Given the description of an element on the screen output the (x, y) to click on. 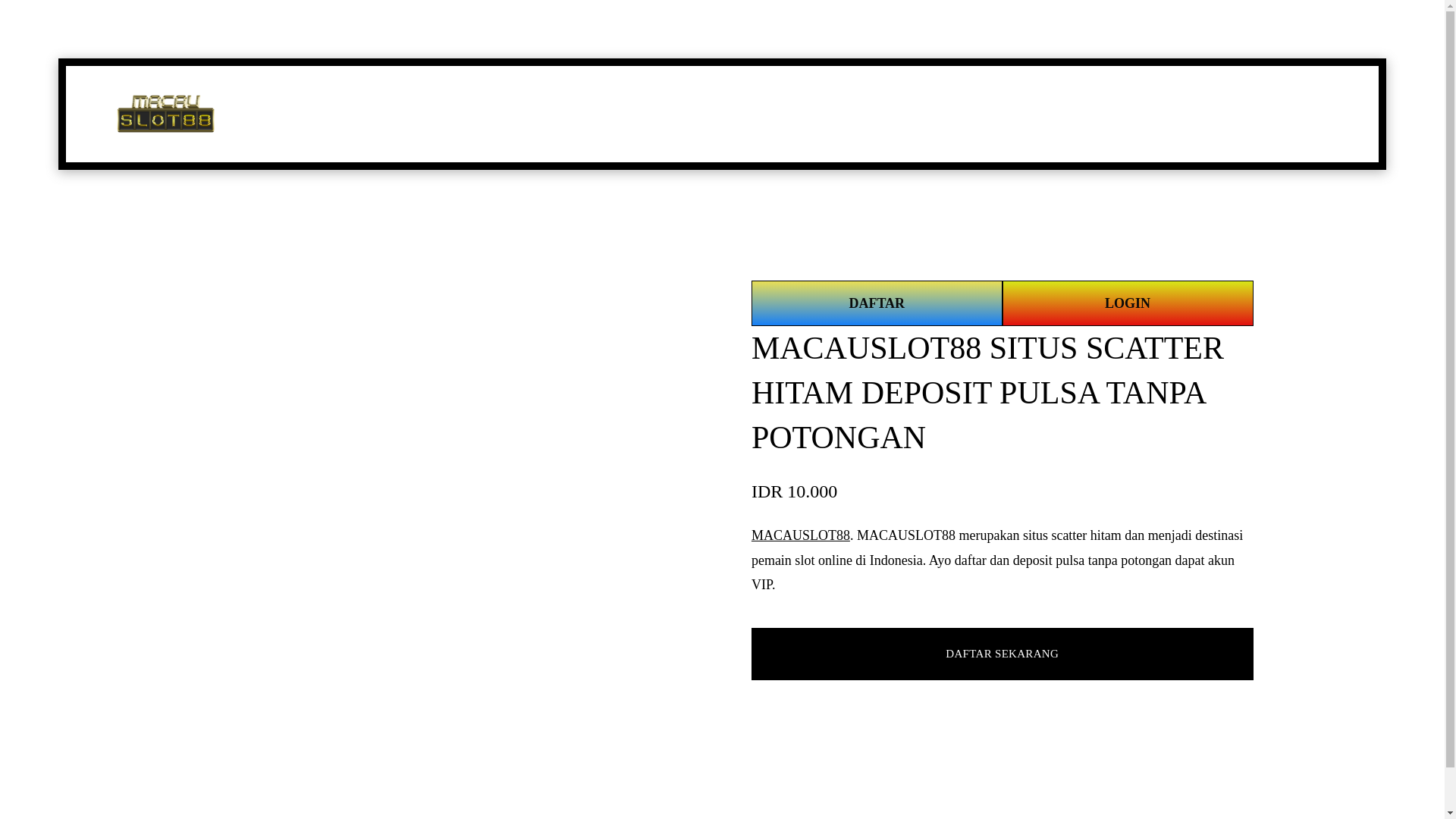
DAFTAR SEKARANG (1001, 653)
LOGIN (1128, 302)
MACAUSLOT88 (800, 534)
DAFTAR (877, 302)
